Given the description of an element on the screen output the (x, y) to click on. 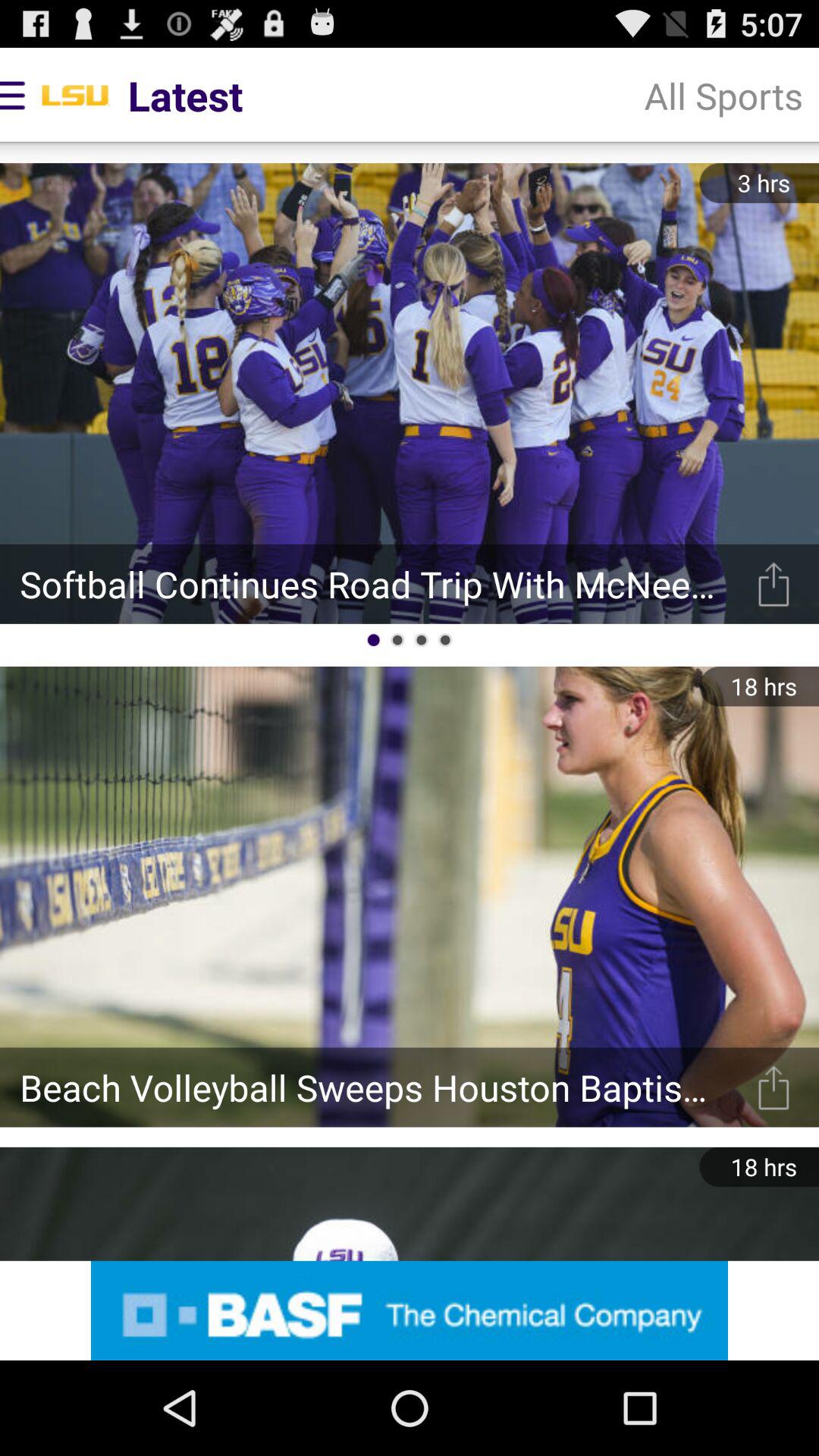
turn off all sports (723, 95)
